Given the description of an element on the screen output the (x, y) to click on. 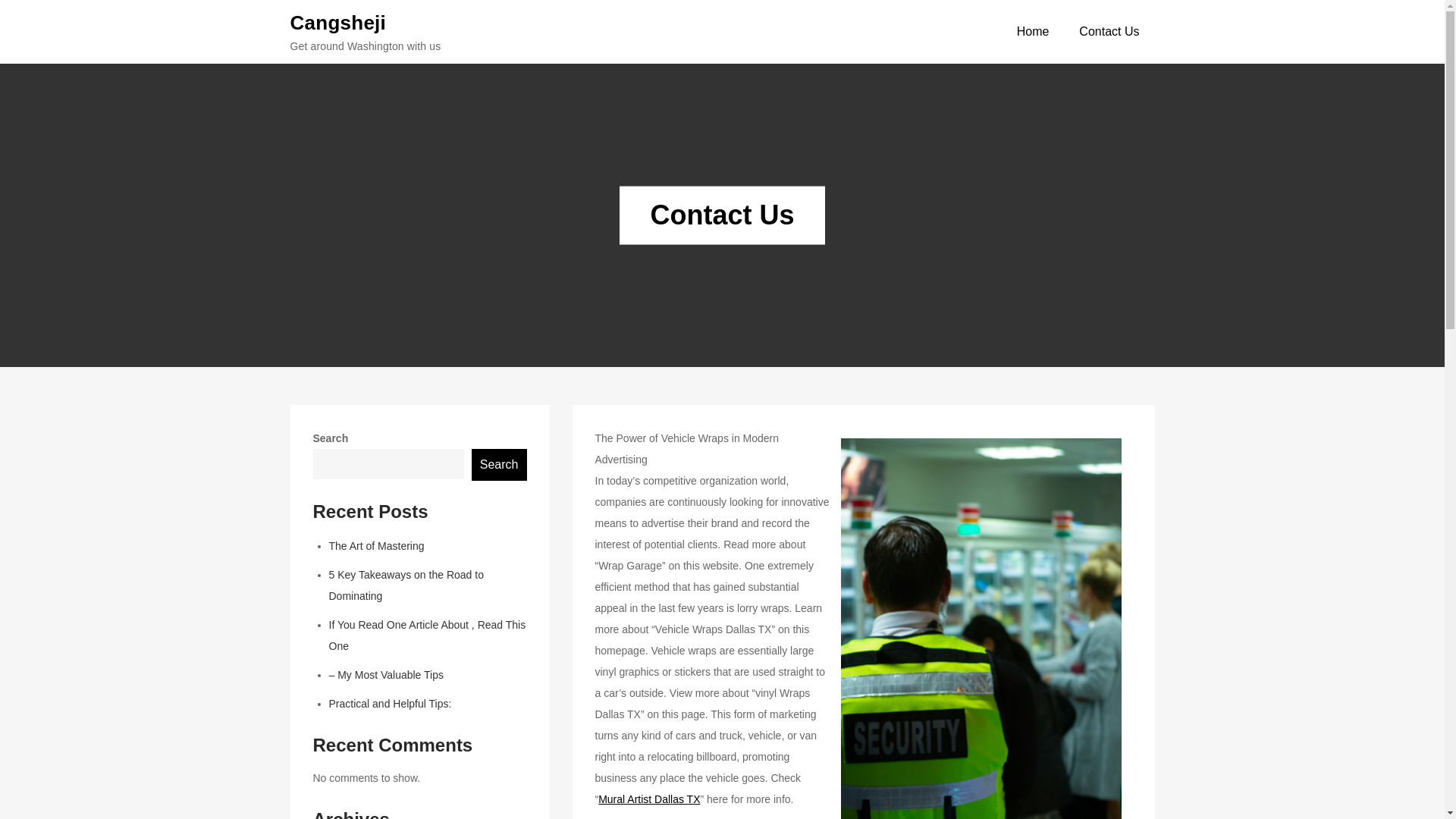
Search (499, 464)
The Art of Mastering (377, 545)
Contact Us (1109, 31)
If You Read One Article About , Read This One (427, 635)
Practical and Helpful Tips: (390, 703)
Mural Artist Dallas TX (649, 799)
5 Key Takeaways on the Road to Dominating (406, 584)
Home (1032, 31)
Cangsheji (337, 21)
